Given the description of an element on the screen output the (x, y) to click on. 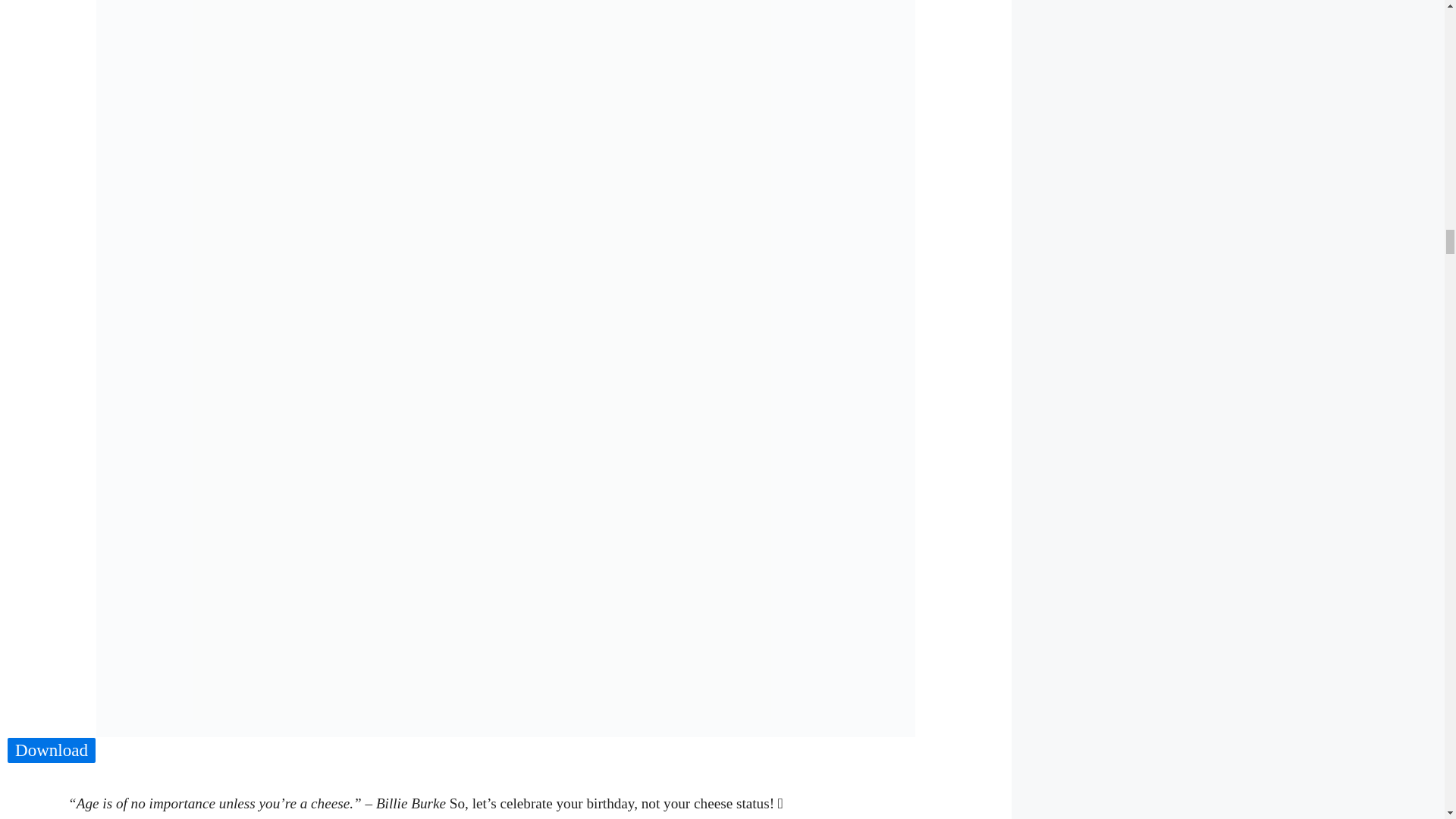
Download (51, 750)
Download (51, 749)
